Given the description of an element on the screen output the (x, y) to click on. 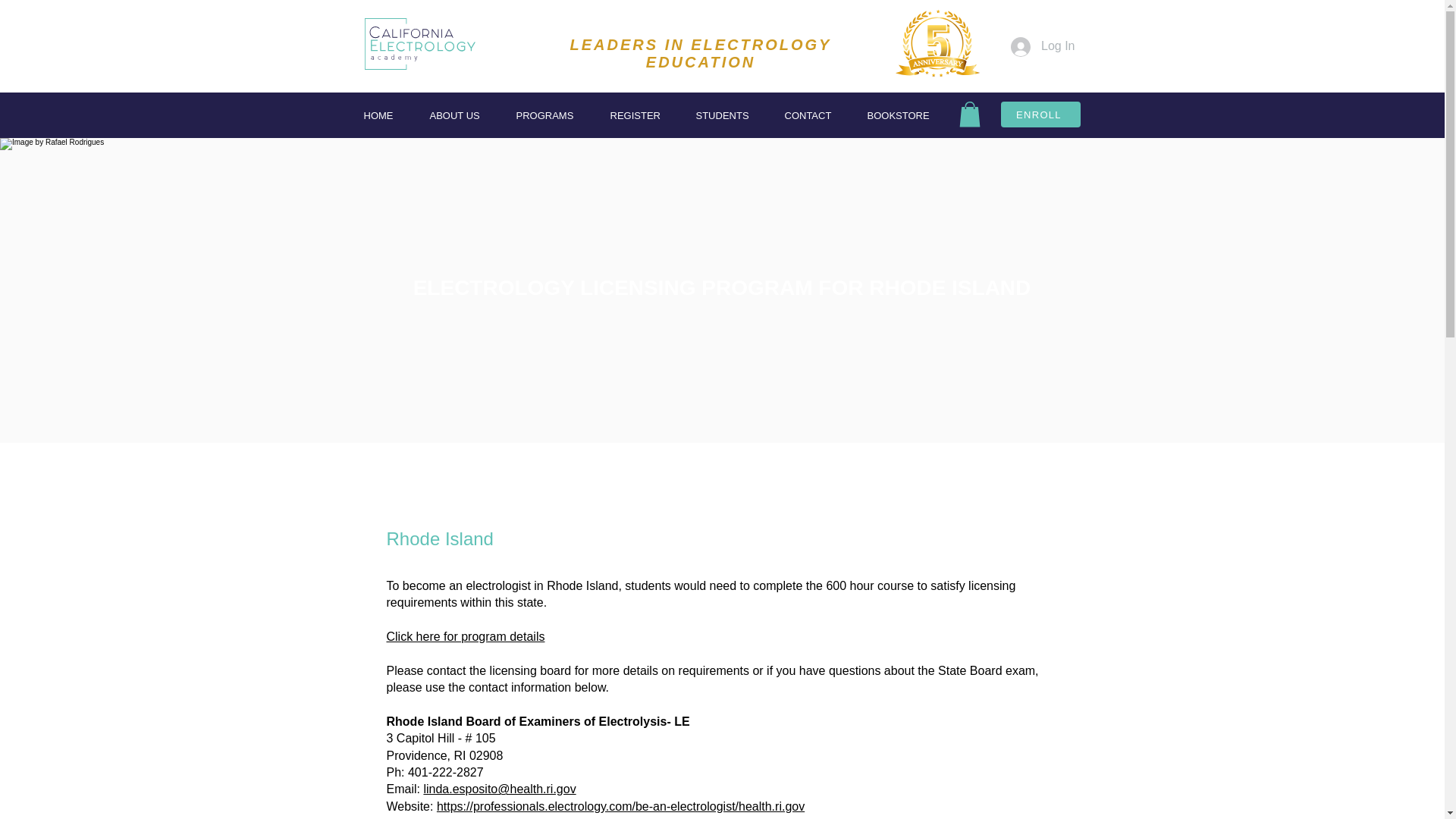
PROGRAMS (551, 115)
ABOUT US (462, 115)
BOOKSTORE (904, 115)
STUDENTS (728, 115)
CONTACT (814, 115)
Click here for program details (465, 635)
ENROLL (1040, 114)
HOME (384, 115)
REGISTER (641, 115)
Log In (1042, 45)
